Given the description of an element on the screen output the (x, y) to click on. 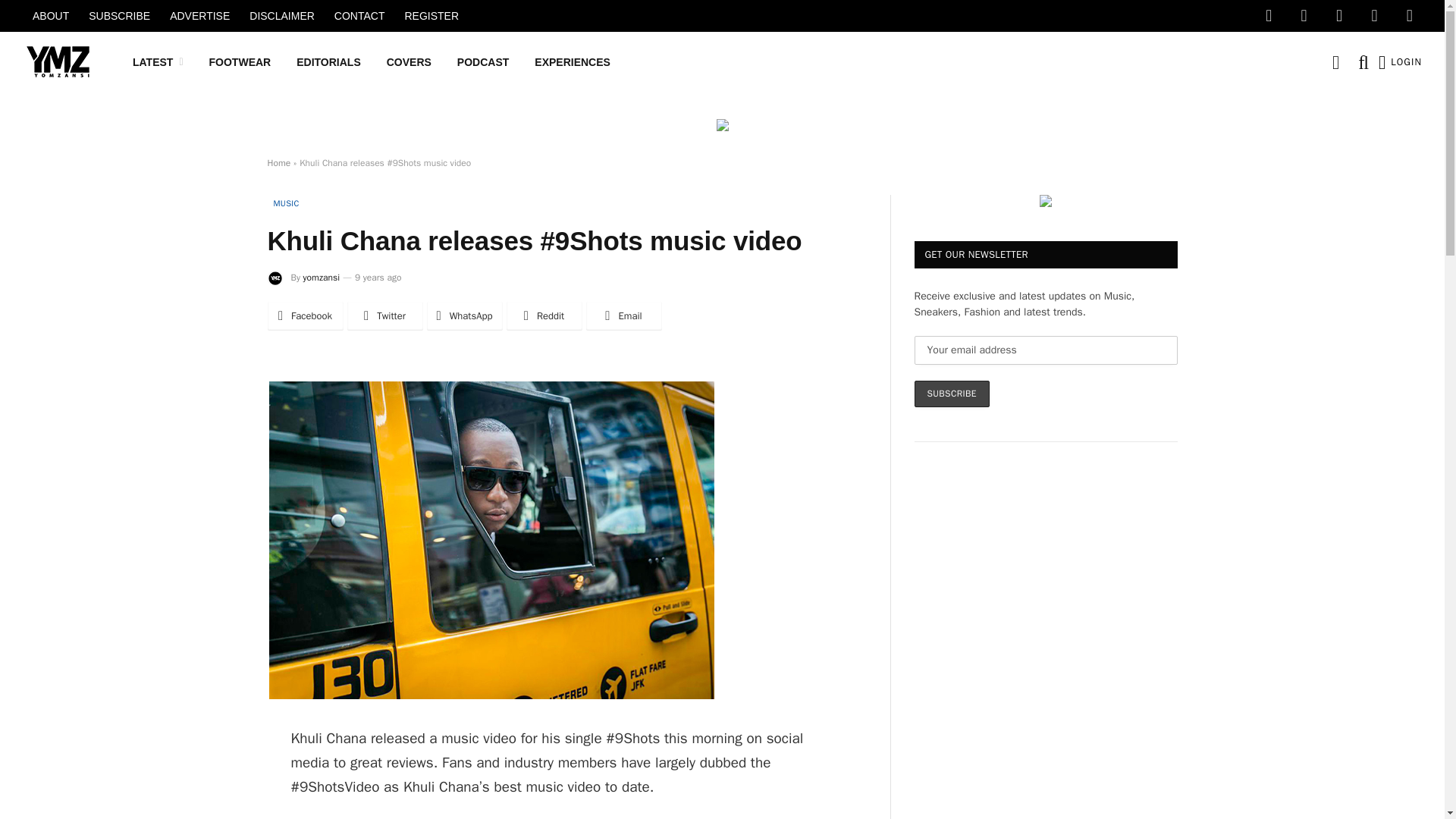
Twitter (1303, 15)
Posts by yomzansi (320, 277)
Share on Reddit (544, 316)
Share on Facebook (304, 316)
Switch to Dark Design - easier on eyes. (1335, 62)
CONTACT (359, 15)
ADVERTISE (200, 15)
Share on WhatsApp (464, 316)
Facebook (1268, 15)
SUBSCRIBE (119, 15)
ABOUT (50, 15)
Instagram (1338, 15)
Share on Twitter (385, 316)
YouTube (1373, 15)
Share via Email (623, 316)
